Given the description of an element on the screen output the (x, y) to click on. 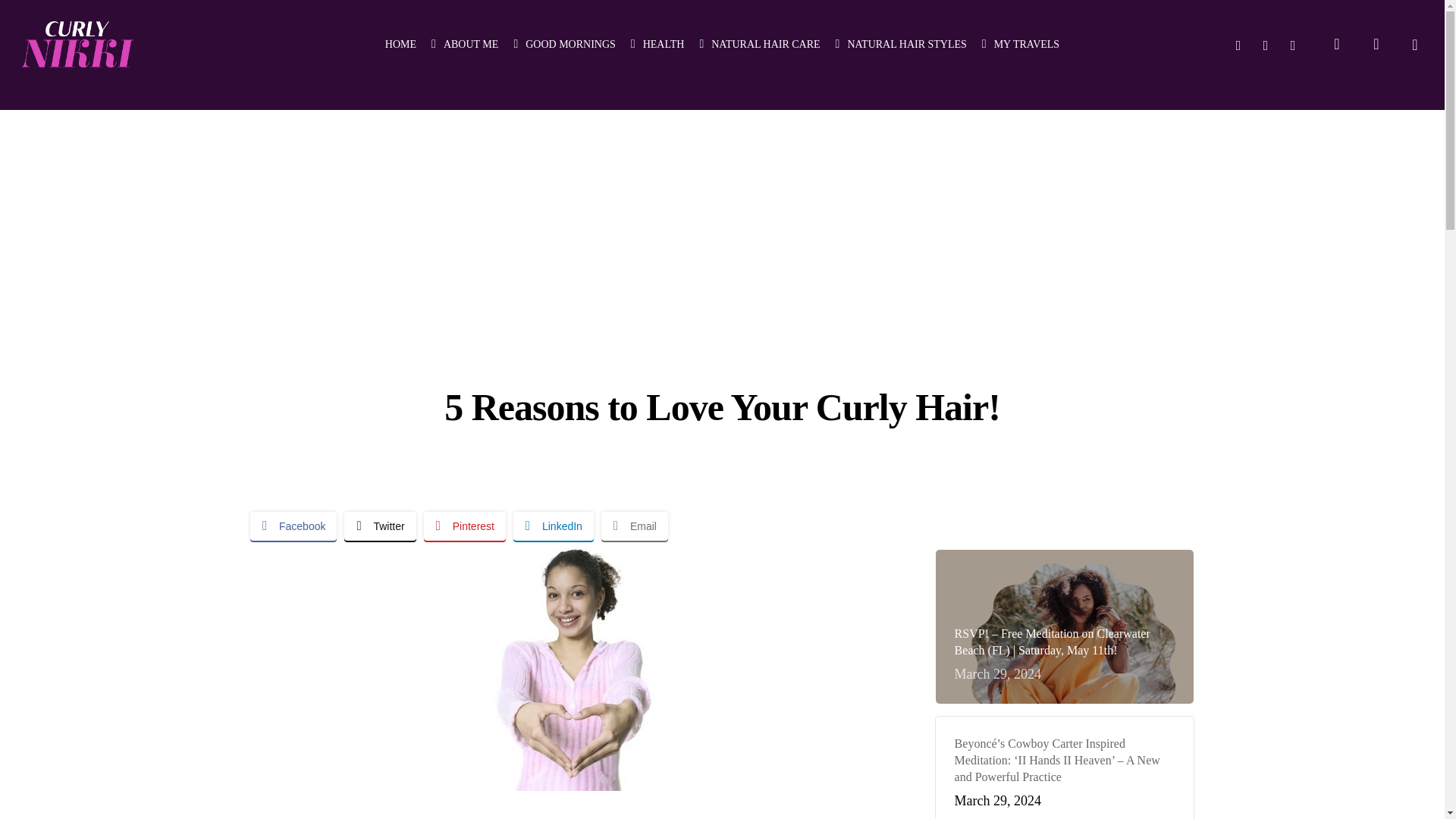
NATURAL HAIR CARE (758, 44)
HEALTH (657, 44)
GOOD MORNINGS (563, 44)
ABOUT ME (463, 44)
HOME (400, 44)
NATURAL HAIR STYLES (900, 44)
